Given the description of an element on the screen output the (x, y) to click on. 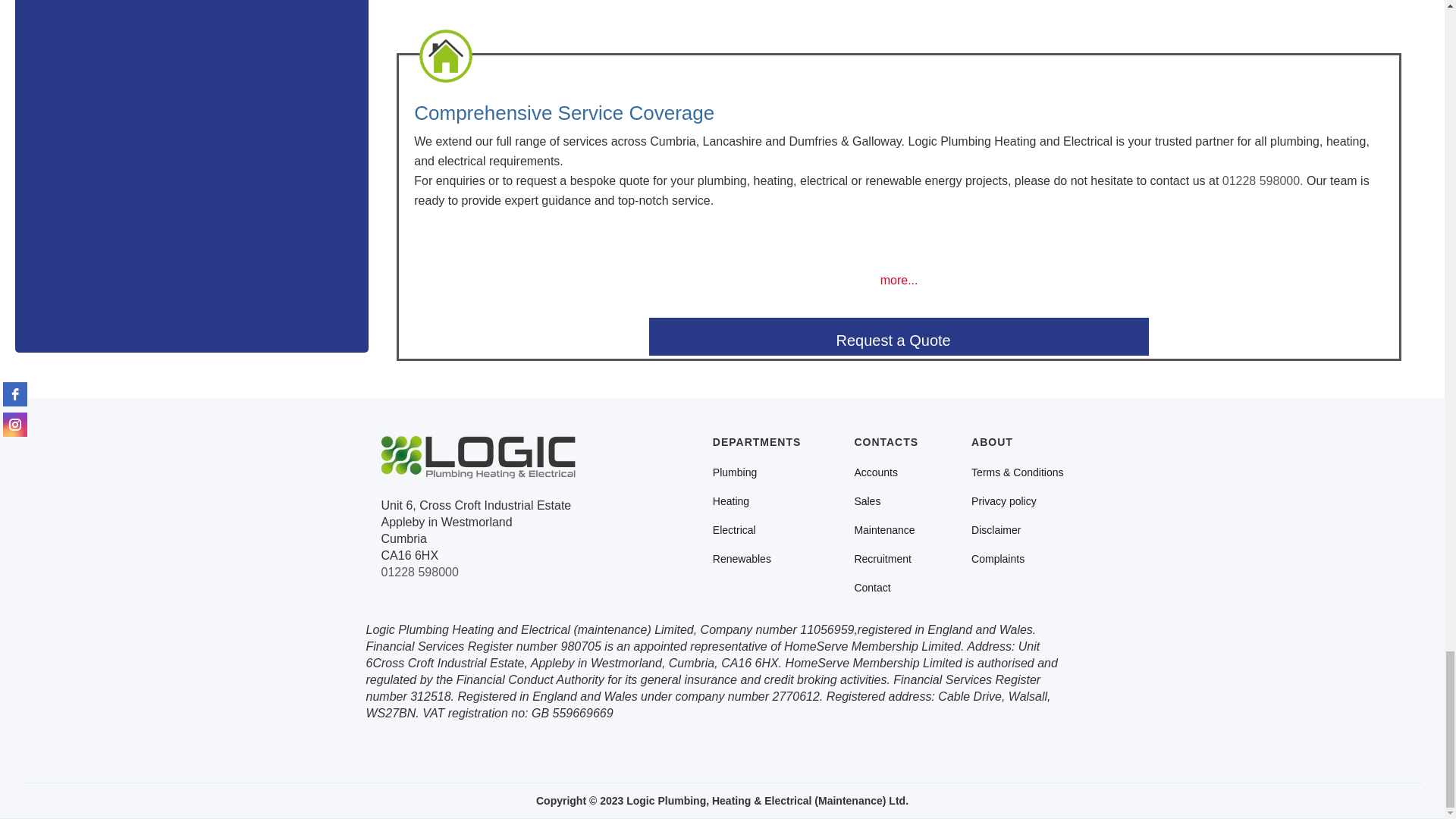
01228 598000 (419, 571)
Heating (731, 502)
Request a Quote (898, 336)
Plumbing (735, 473)
more... (899, 279)
01228 598000. (1264, 180)
